Given the description of an element on the screen output the (x, y) to click on. 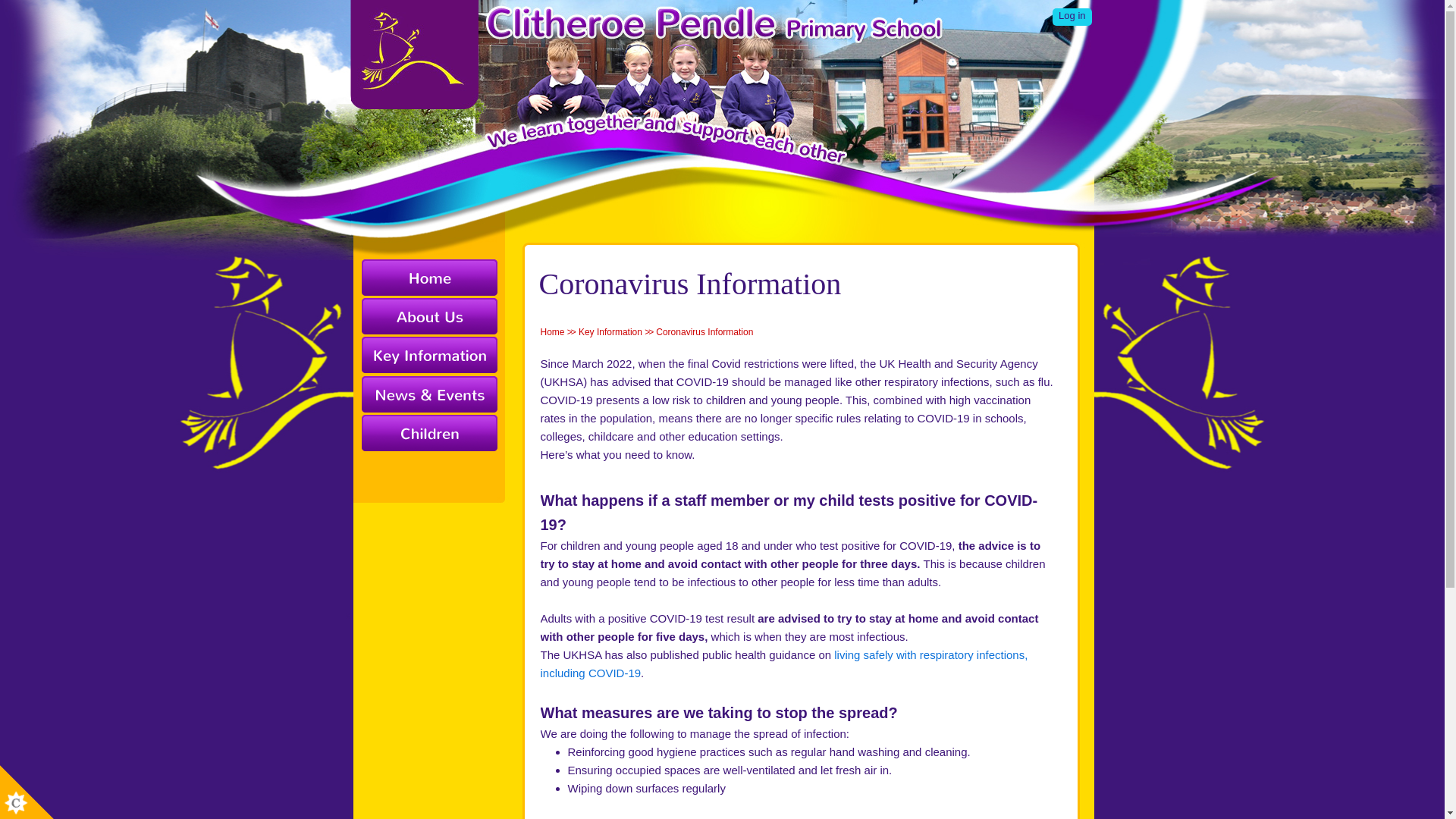
Key Information (610, 331)
Home Page (652, 46)
About Us (428, 317)
Home (552, 331)
Log in (1071, 16)
Coronavirus Information (704, 331)
News and Events (428, 394)
Home Page (652, 46)
Home (428, 278)
Key Information (428, 355)
